Given the description of an element on the screen output the (x, y) to click on. 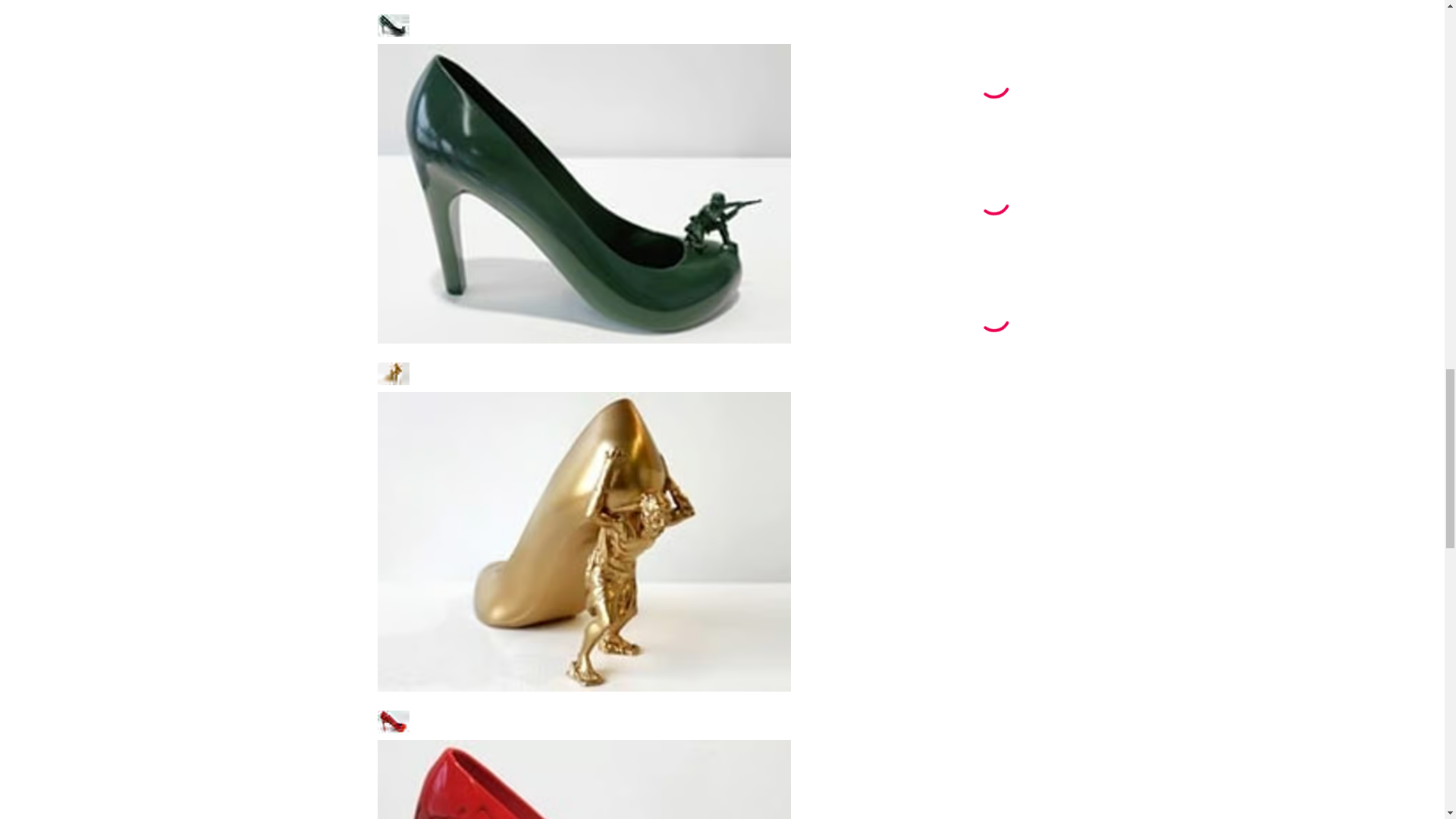
12 shoes for 12 Exes (583, 764)
